Given the description of an element on the screen output the (x, y) to click on. 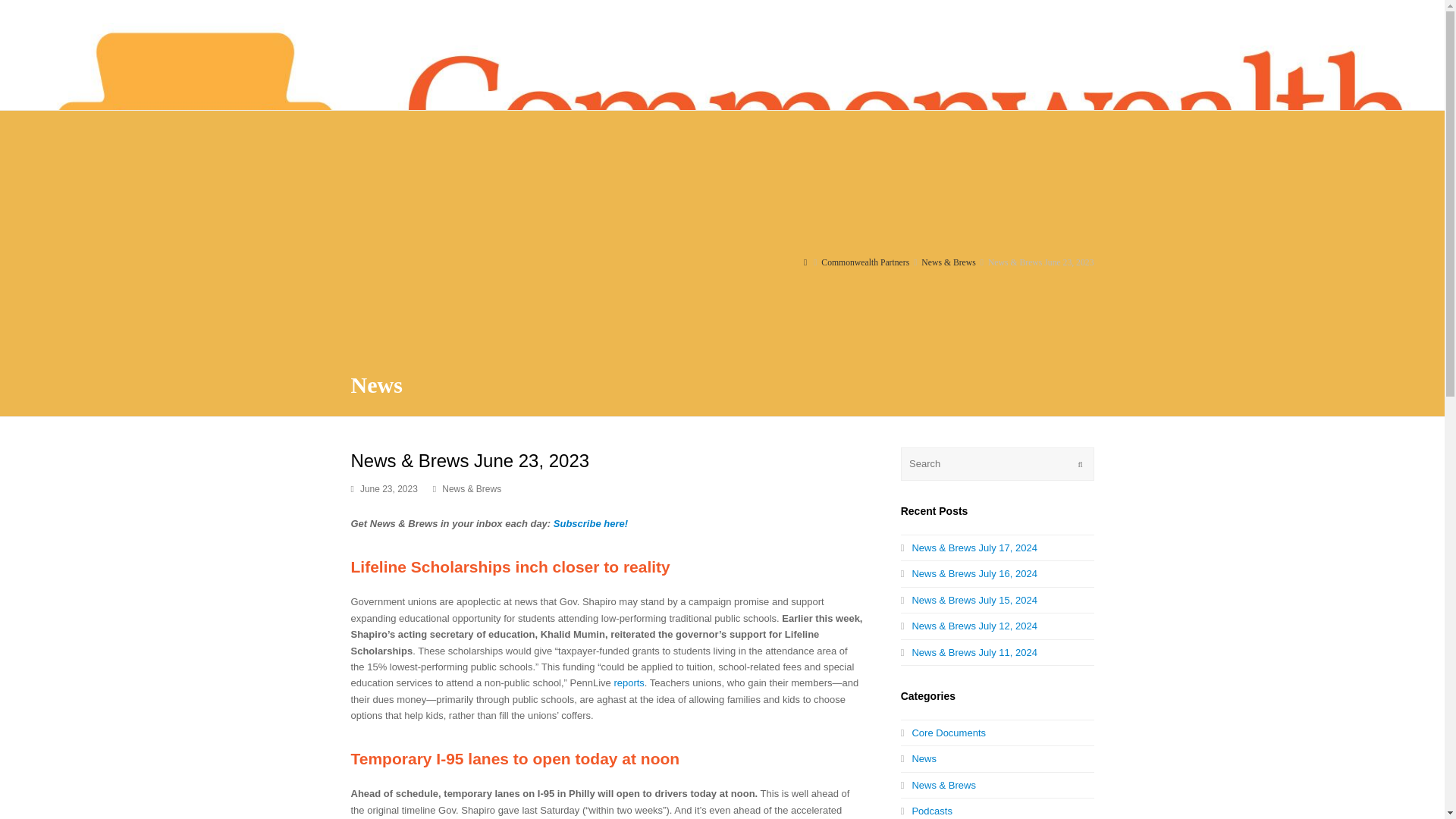
Commonwealth Partners (805, 262)
Core Documents (943, 732)
Commonwealth Partners (864, 262)
Subscribe here! (590, 523)
Updates (1315, 195)
Donate (1217, 195)
reports (627, 682)
Commonwealth Partners (864, 262)
